Given the description of an element on the screen output the (x, y) to click on. 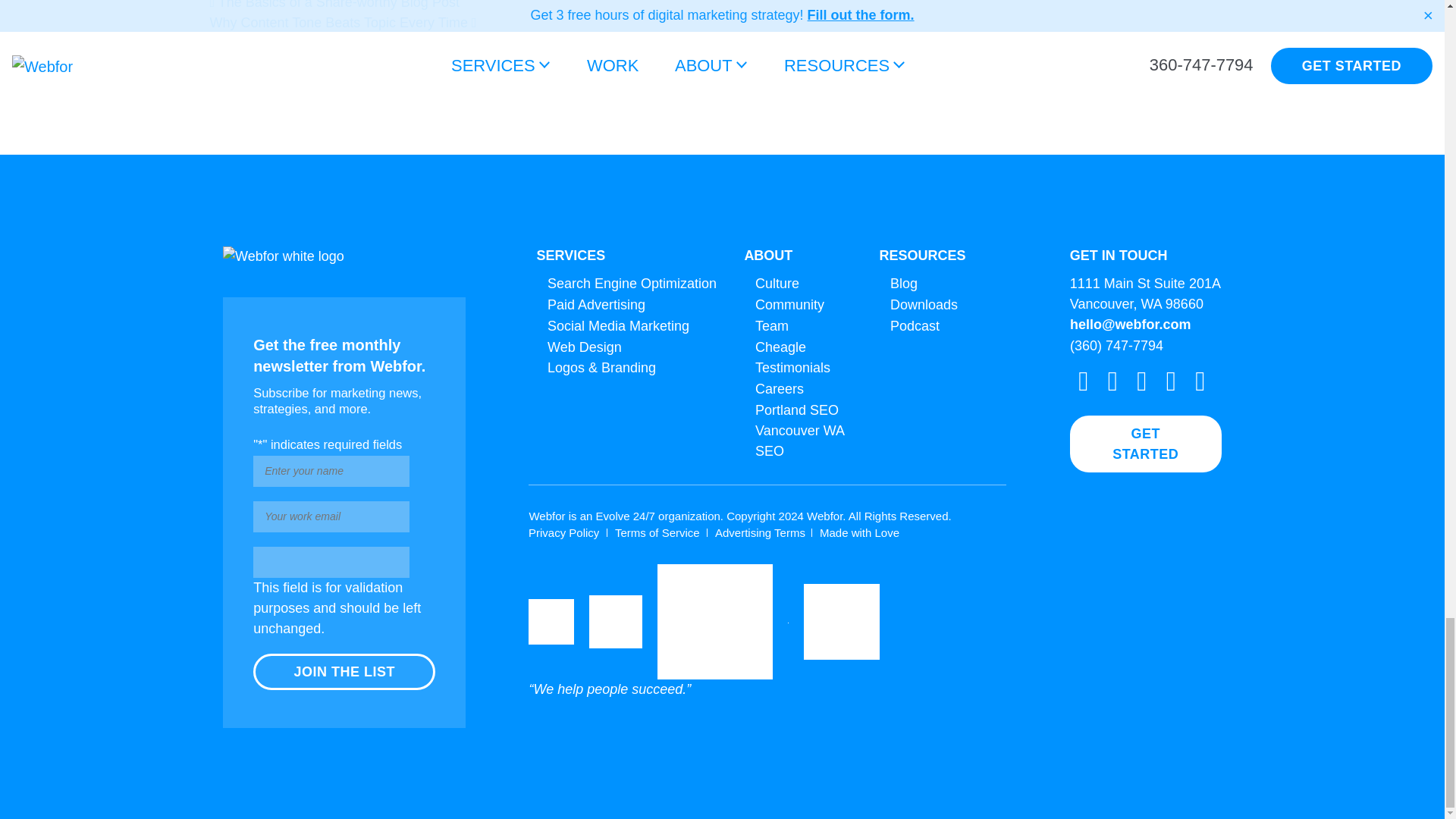
Join The List (344, 671)
